Given the description of an element on the screen output the (x, y) to click on. 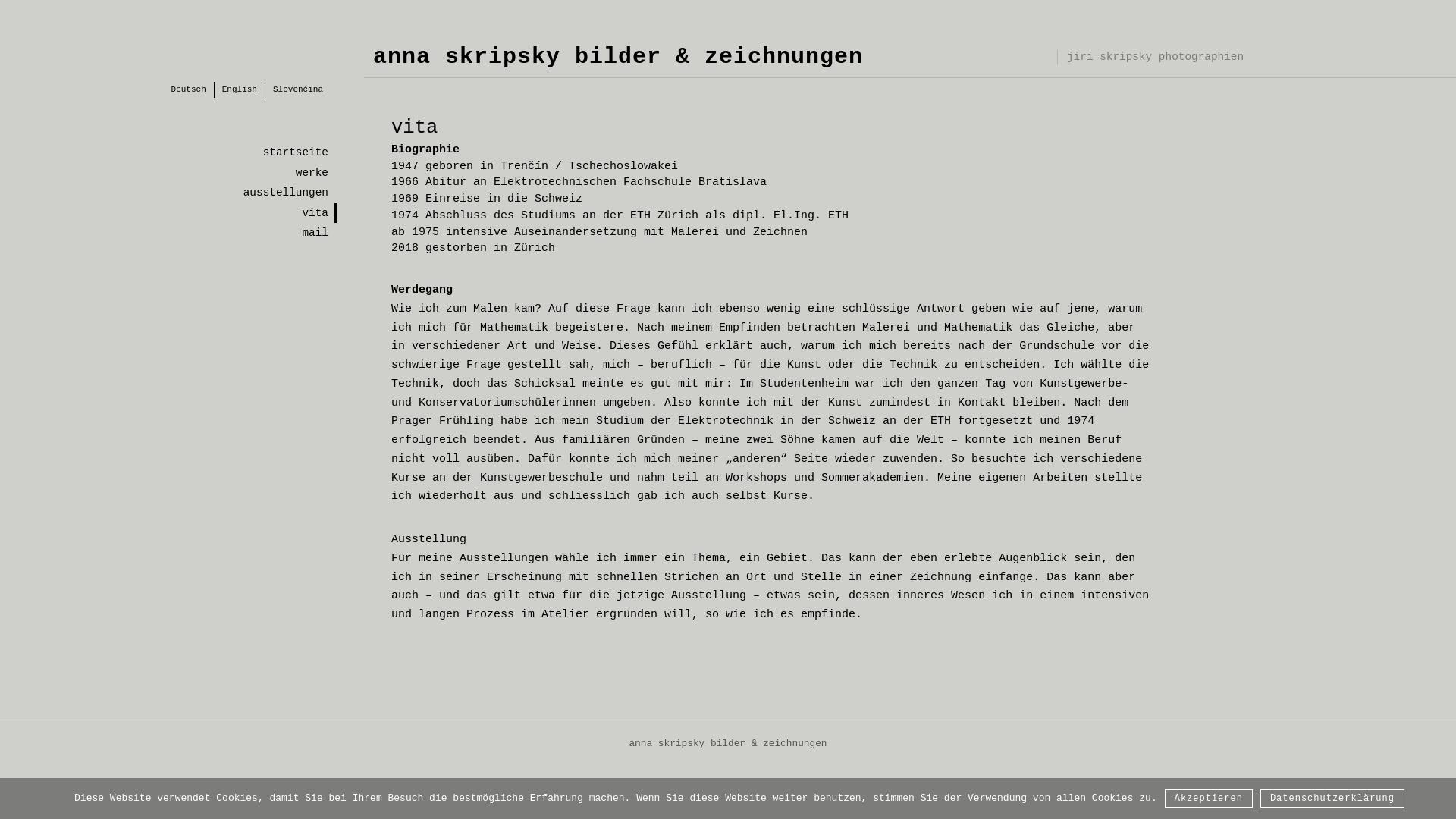
anna skripsky bilder & zeichnungen Element type: text (617, 56)
jiri skripsky photographien Element type: text (1154, 56)
werke Element type: text (181, 172)
mail Element type: text (181, 232)
English Element type: text (239, 89)
startseite Element type: text (181, 152)
Deutsch Element type: text (188, 89)
ausstellungen Element type: text (181, 192)
Akzeptieren Element type: text (1208, 798)
vita Element type: text (181, 212)
